Given the description of an element on the screen output the (x, y) to click on. 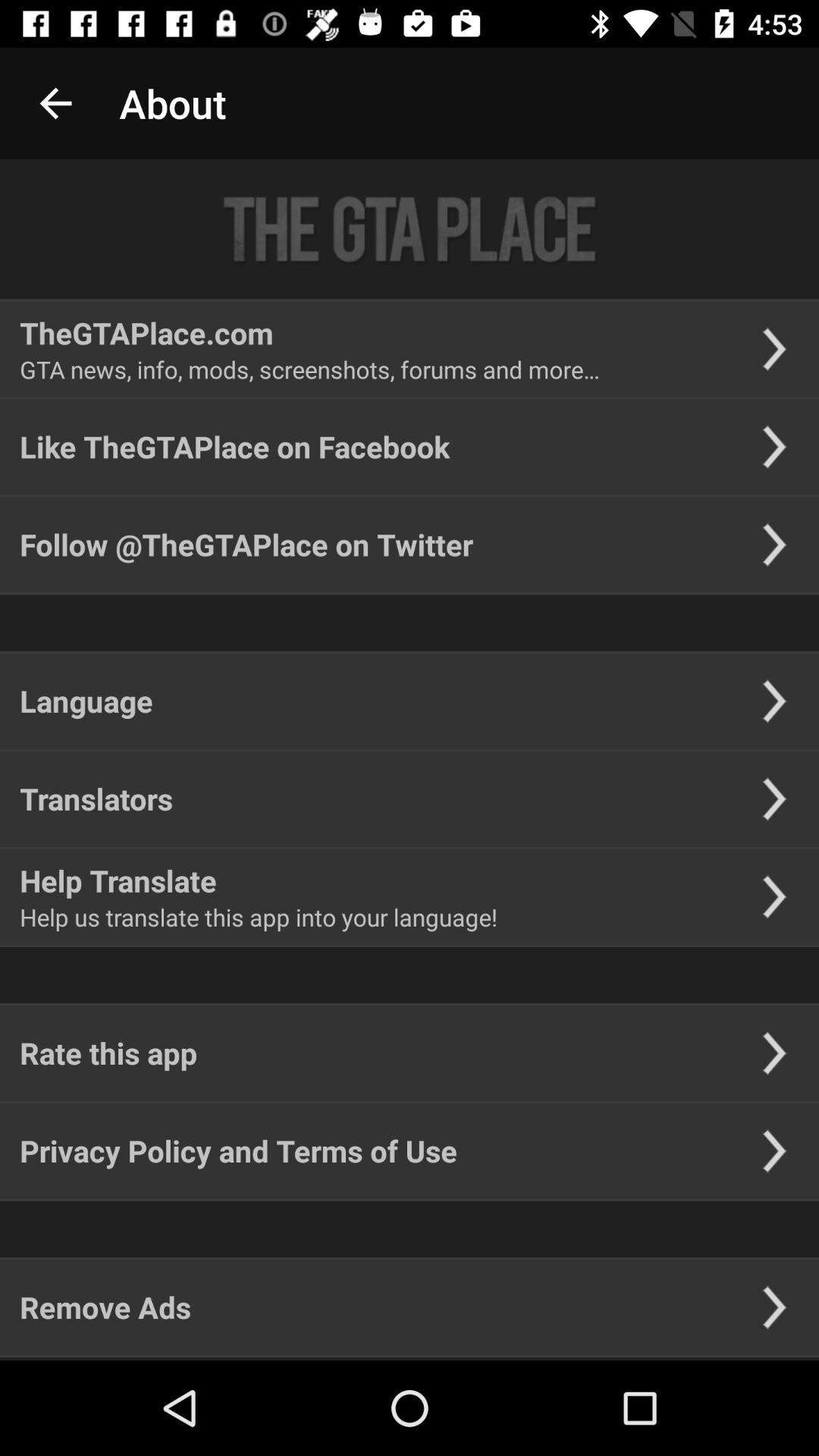
click icon below privacy policy and item (105, 1307)
